Given the description of an element on the screen output the (x, y) to click on. 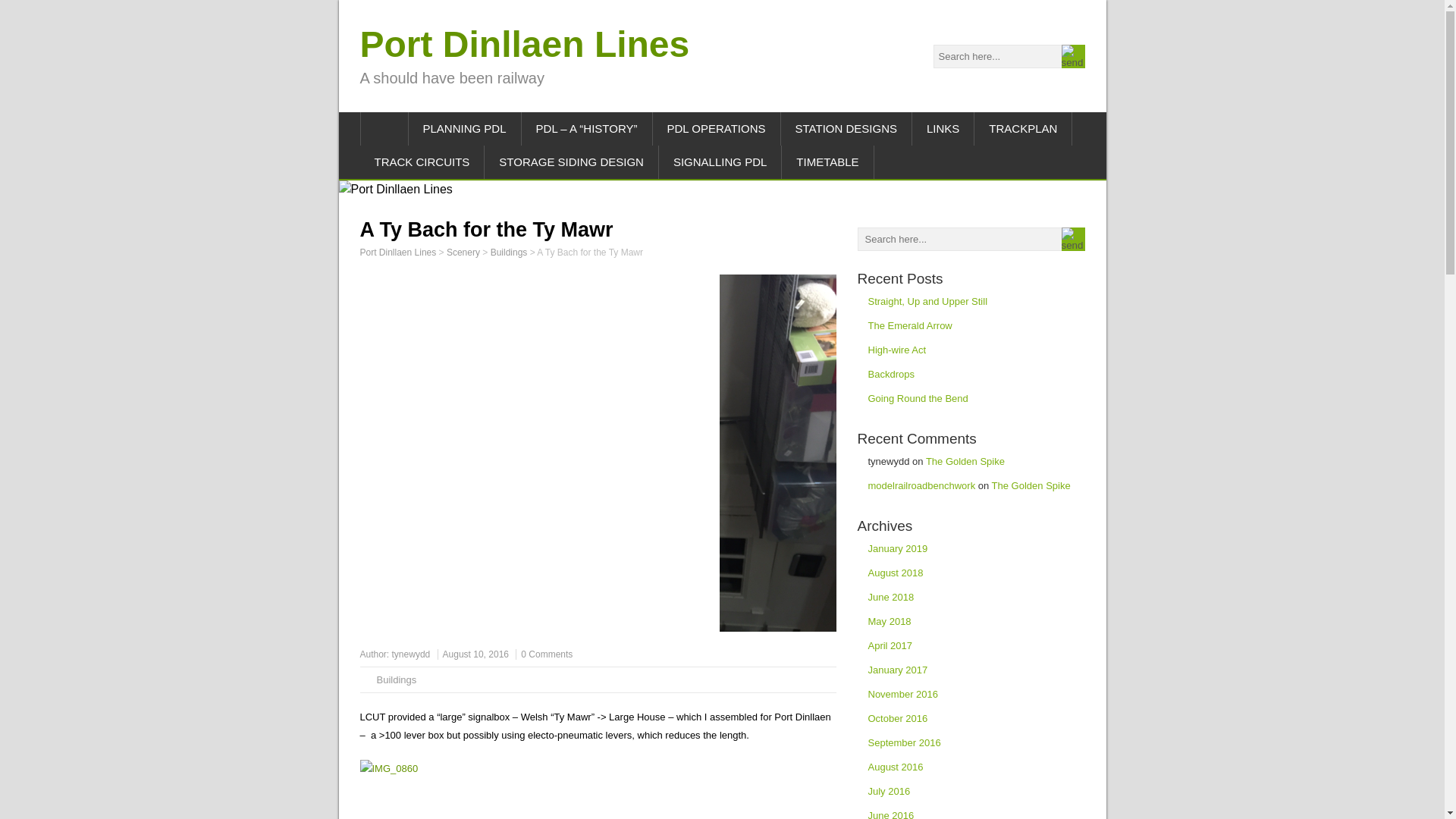
November 2016 (902, 694)
0 Comments (546, 654)
The Emerald Arrow (909, 325)
January 2019 (897, 548)
STATION DESIGNS (846, 128)
August 2018 (895, 572)
PLANNING PDL (464, 128)
June 2018 (890, 596)
The Golden Spike (1030, 485)
PDL OPERATIONS (716, 128)
Go to the Buildings Category archives. (508, 252)
January 2017 (897, 669)
Straight, Up and Upper Still (927, 301)
Going Round the Bend (917, 398)
Posts by tynewydd (410, 654)
